Given the description of an element on the screen output the (x, y) to click on. 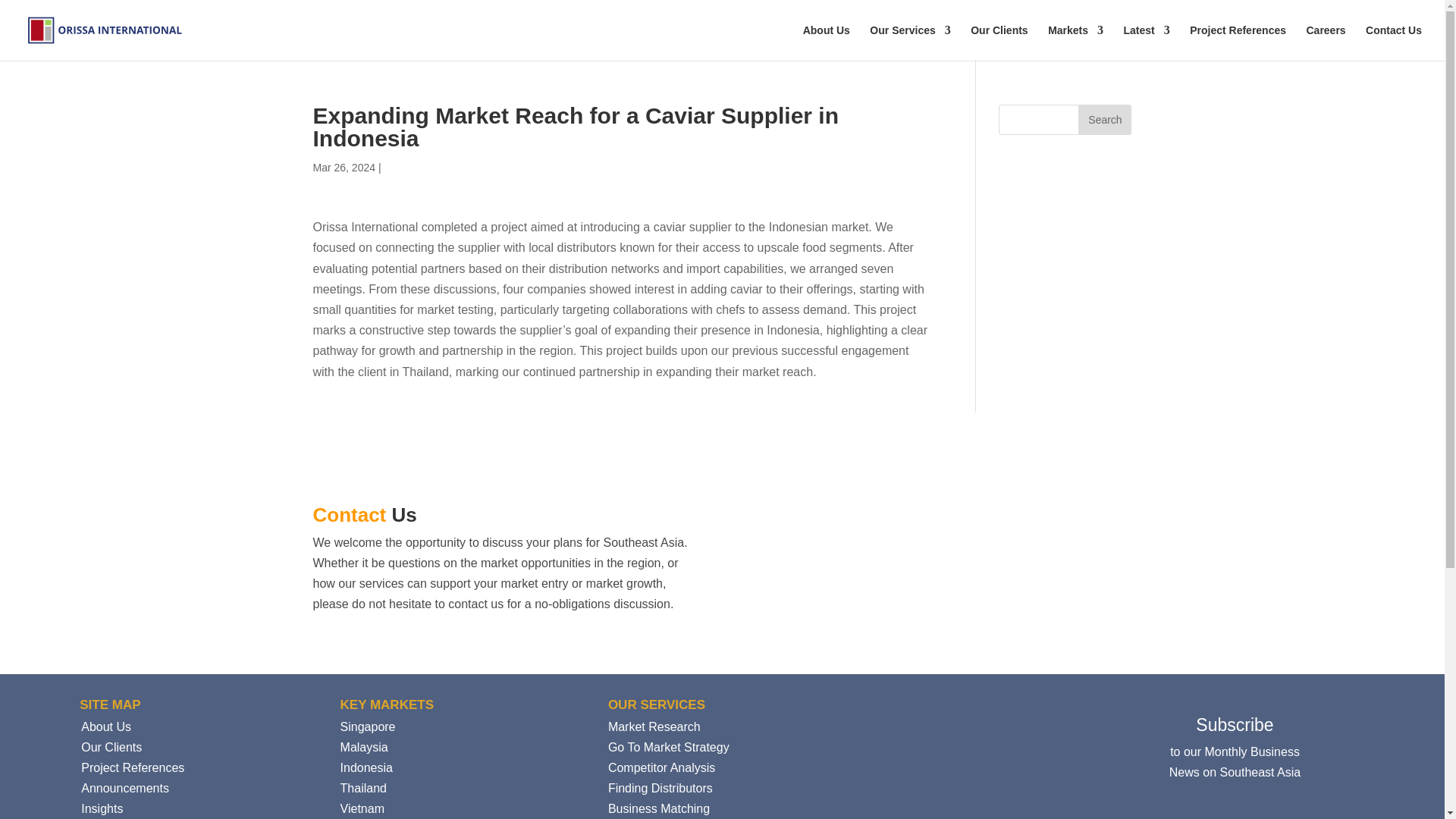
Project References (132, 767)
Latest (1147, 42)
Search (1104, 119)
About Us (826, 42)
Careers (1325, 42)
Insights (101, 808)
Project References (1237, 42)
Our Services (909, 42)
Search (1104, 119)
Contact Us (1393, 42)
